Given the description of an element on the screen output the (x, y) to click on. 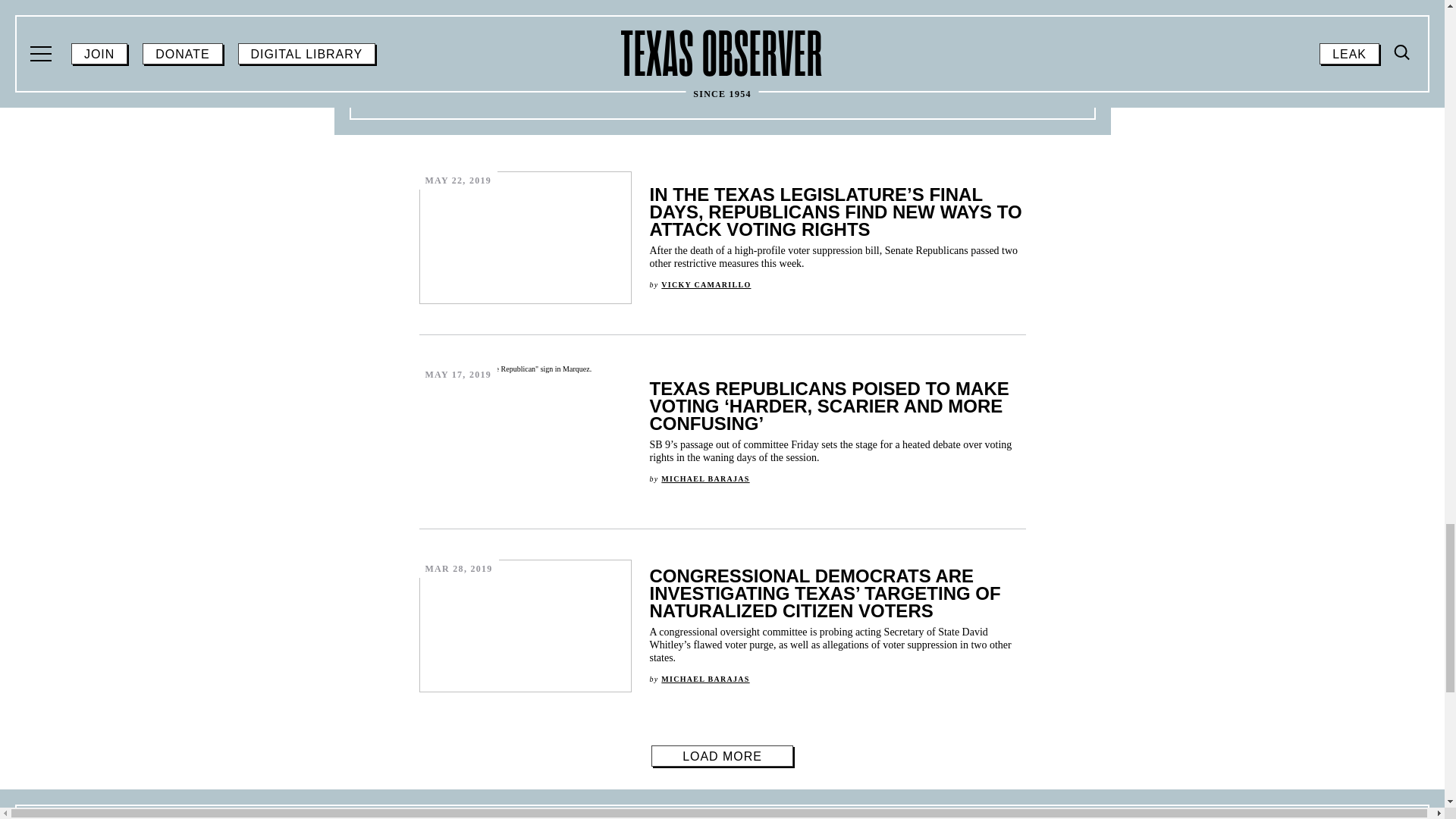
Post by Michael Barajas (705, 678)
Post by Vicky Camarillo (706, 284)
Post by Michael Barajas (705, 479)
